Given the description of an element on the screen output the (x, y) to click on. 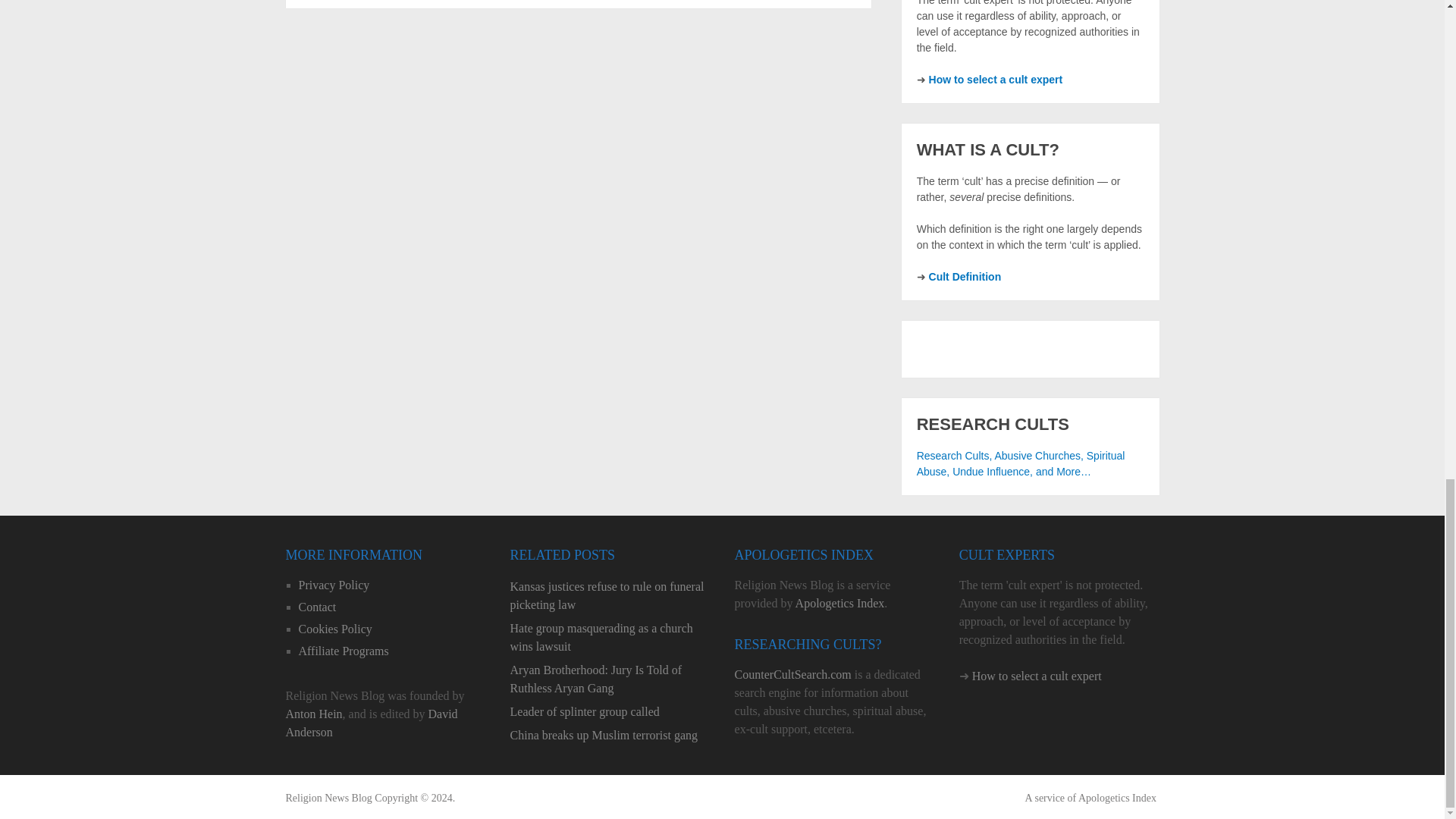
Kansas justices refuse to rule on funeral picketing law (610, 596)
David Anderson (371, 722)
China breaks up Muslim terrorist gang (610, 735)
Contact (317, 606)
Privacy Policy (333, 584)
Leader of splinter group called (610, 711)
 Religion news: religious cults, sects, and world religions (328, 797)
Anton Hein (313, 713)
Cookies Policy (335, 628)
Cult Definition (964, 276)
